Given the description of an element on the screen output the (x, y) to click on. 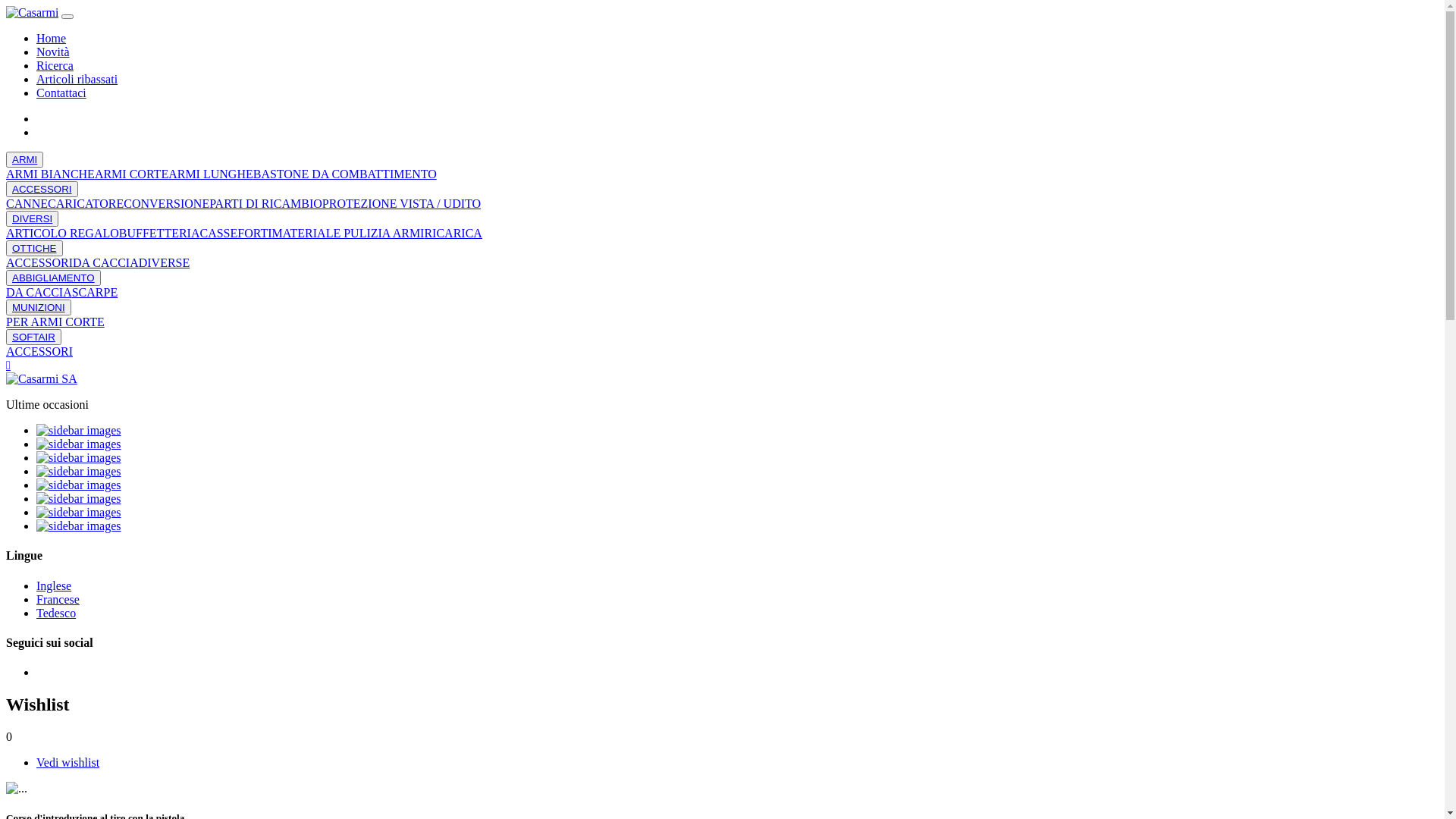
ABBIGLIAMENTO Element type: text (53, 277)
Tedesco Element type: text (55, 612)
ARMI CORTE Element type: text (131, 173)
ARMI Element type: text (24, 159)
ARMI Element type: text (24, 159)
BUFFETTERIA Element type: text (159, 232)
DIVERSI Element type: text (32, 218)
MATERIALE PULIZIA ARMI Element type: text (348, 232)
PER ARMI CORTE Element type: text (55, 321)
DA CACCIA Element type: text (105, 262)
CONVERSIONE Element type: text (166, 203)
Inglese Element type: text (53, 585)
RICARICA Element type: text (452, 232)
ABBIGLIAMENTO Element type: text (53, 277)
ACCESSORI Element type: text (39, 351)
ACCESSORI Element type: text (42, 189)
BASTONE DA COMBATTIMENTO Element type: text (344, 173)
Contattaci Element type: text (61, 92)
MUNIZIONI Element type: text (38, 307)
SCARPE Element type: text (94, 291)
Home Element type: text (50, 37)
DIVERSI Element type: text (32, 218)
CANNE Element type: text (26, 203)
Francese Element type: text (57, 599)
PARTI DI RICAMBIO Element type: text (265, 203)
PROTEZIONE VISTA / UDITO Element type: text (401, 203)
ACCESSORI Element type: text (39, 262)
SOFTAIR Element type: text (33, 337)
MUNIZIONI Element type: text (38, 307)
Ricerca Element type: text (54, 65)
SOFTAIR Element type: text (33, 336)
ARMI LUNGHE Element type: text (210, 173)
Articoli ribassati Element type: text (76, 78)
ARMI BIANCHE Element type: text (50, 173)
ARTICOLO REGALO Element type: text (62, 232)
CASSEFORTI Element type: text (235, 232)
Vedi wishlist Element type: text (67, 762)
CARICATORE Element type: text (85, 203)
OTTICHE Element type: text (34, 248)
DA CACCIA Element type: text (39, 291)
OTTICHE Element type: text (34, 248)
DIVERSE Element type: text (164, 262)
ACCESSORI Element type: text (42, 188)
